Given the description of an element on the screen output the (x, y) to click on. 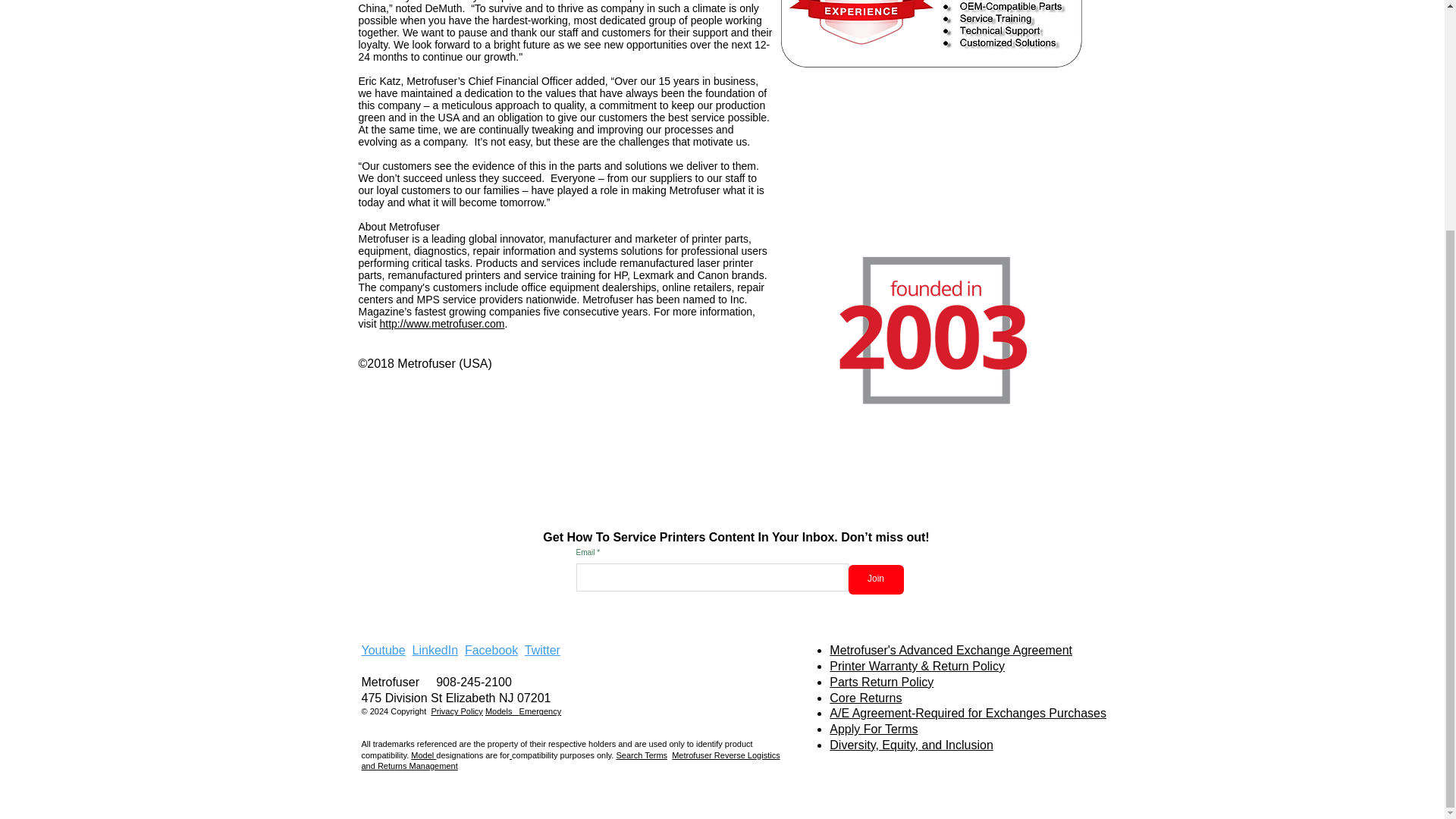
LinkedIn (435, 649)
Metrofuser's Advanced Exchange Agreement (950, 649)
Core Returns (865, 697)
Twitter (542, 649)
Youtube (382, 649)
Metrofuser Reverse Logistics and Returns Management (569, 760)
Join (874, 579)
Model (422, 755)
Models    (501, 710)
Emergency (540, 710)
